Given the description of an element on the screen output the (x, y) to click on. 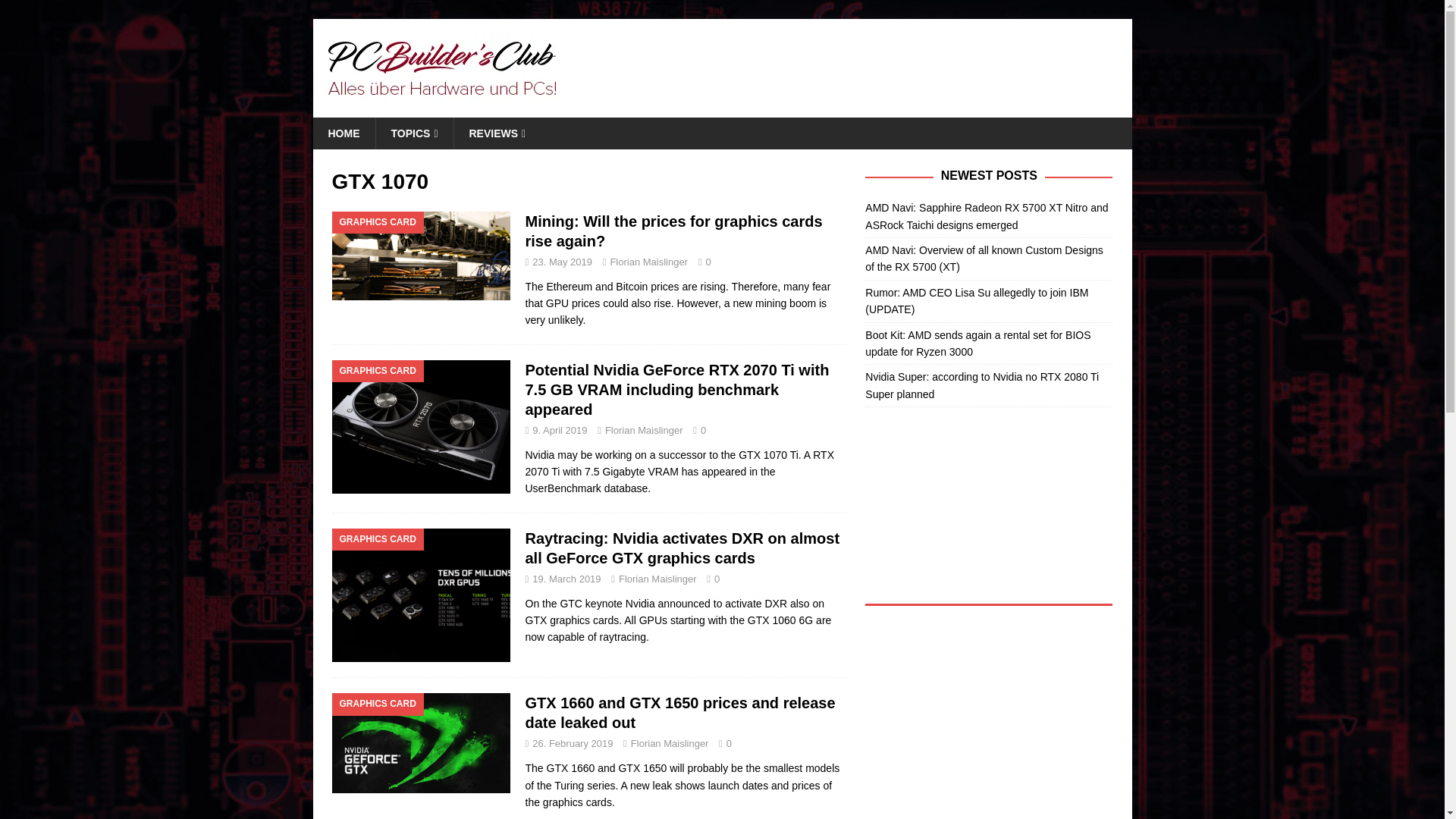
9. April 2019 (559, 430)
HOME (343, 133)
Florian Maislinger (669, 743)
Mining: Will the prices for graphics cards rise again? (673, 230)
Florian Maislinger (648, 261)
19. March 2019 (565, 578)
26. February 2019 (572, 743)
TOPICS (413, 133)
REVIEWS (496, 133)
GTX 1660 and GTX 1650 prices and release date leaked out (679, 712)
Florian Maislinger (657, 578)
Florian Maislinger (643, 430)
